Given the description of an element on the screen output the (x, y) to click on. 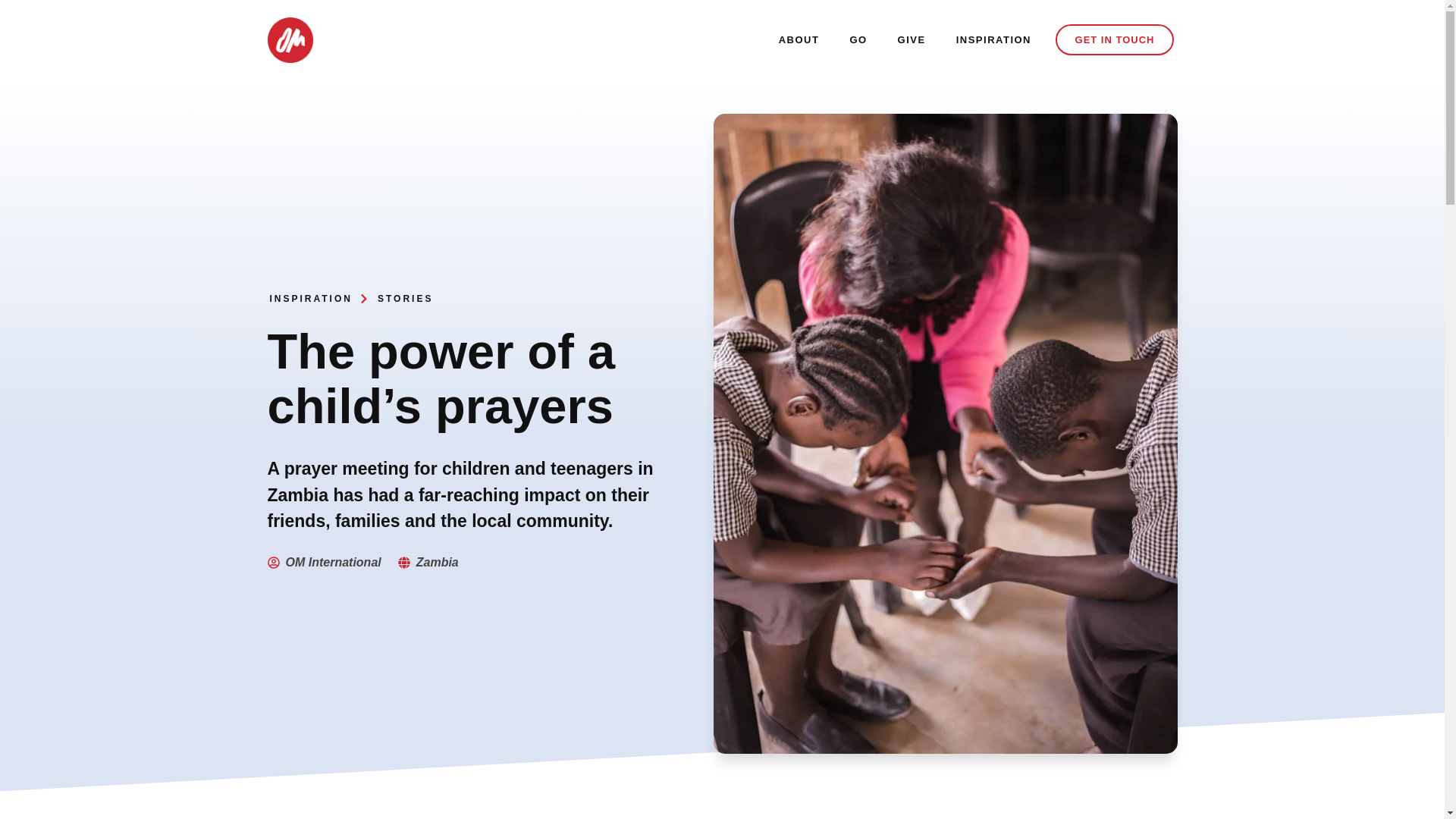
GO (858, 38)
ABOUT (798, 38)
